Given the description of an element on the screen output the (x, y) to click on. 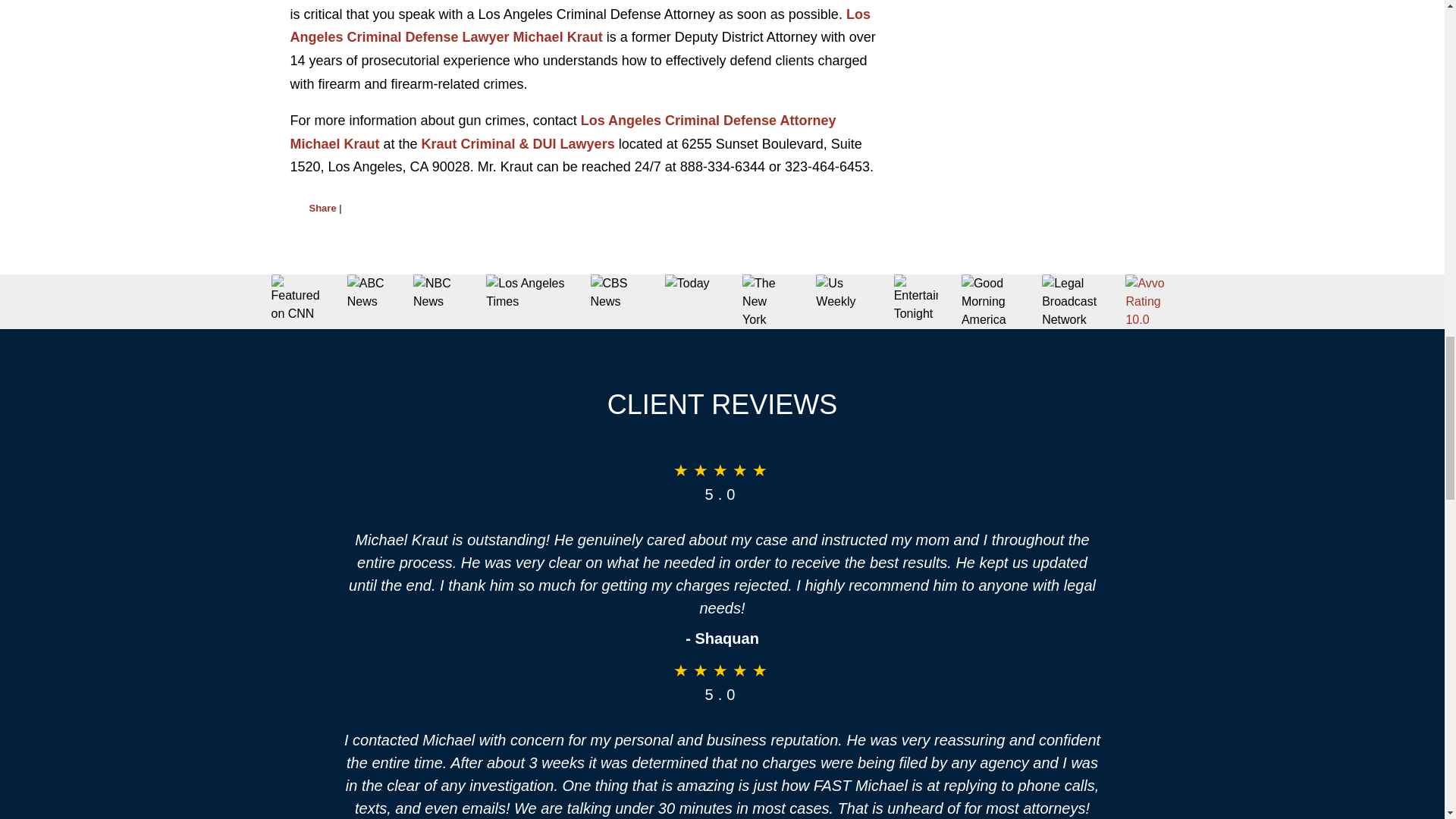
Share (322, 207)
Los Angeles Criminal Defense Attorney Michael Kraut (562, 132)
Los Angeles Criminal Defense Lawyer Michael Kraut (579, 25)
